Given the description of an element on the screen output the (x, y) to click on. 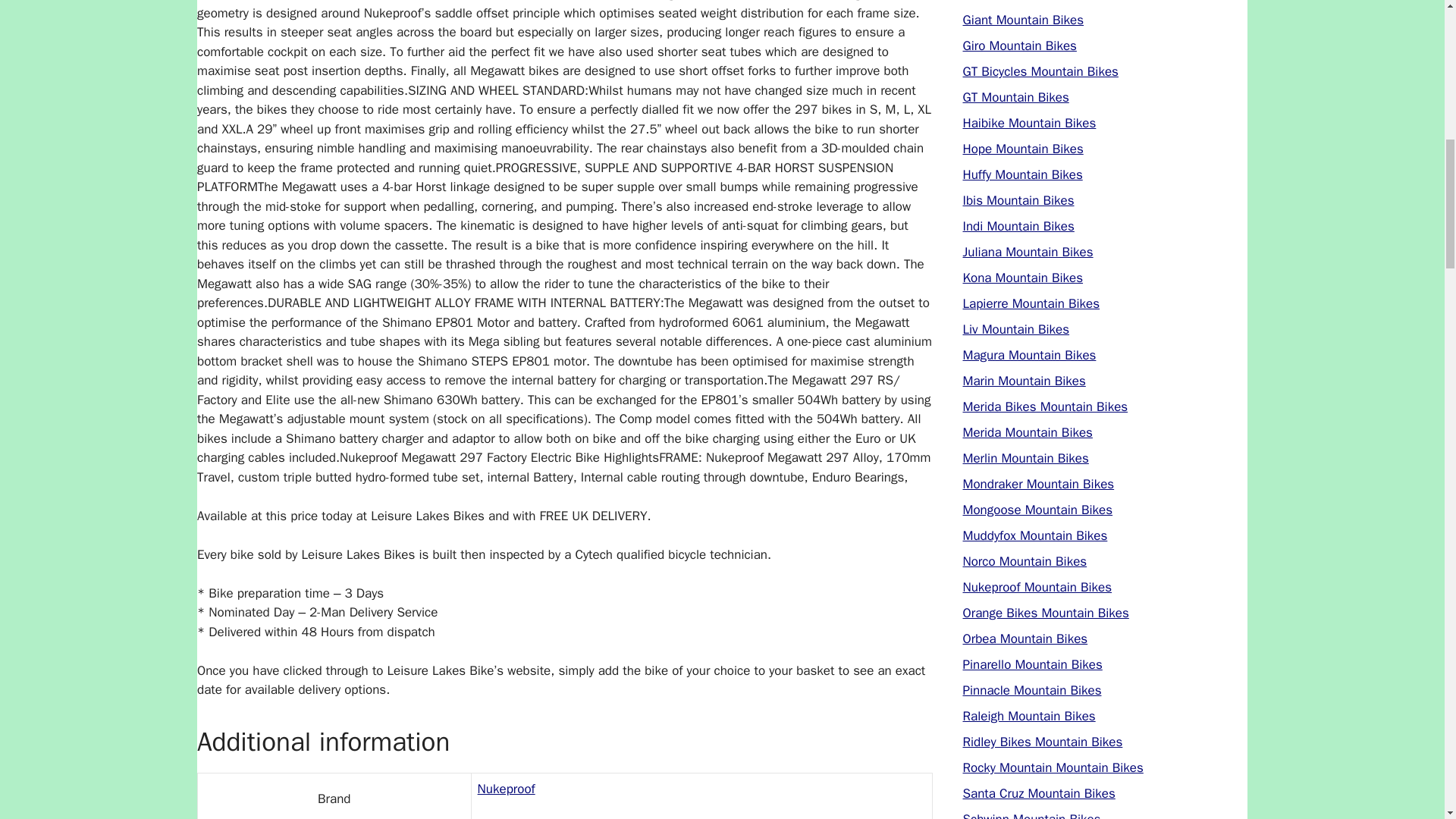
Scroll back to top (1406, 720)
Nukeproof (506, 788)
